Given the description of an element on the screen output the (x, y) to click on. 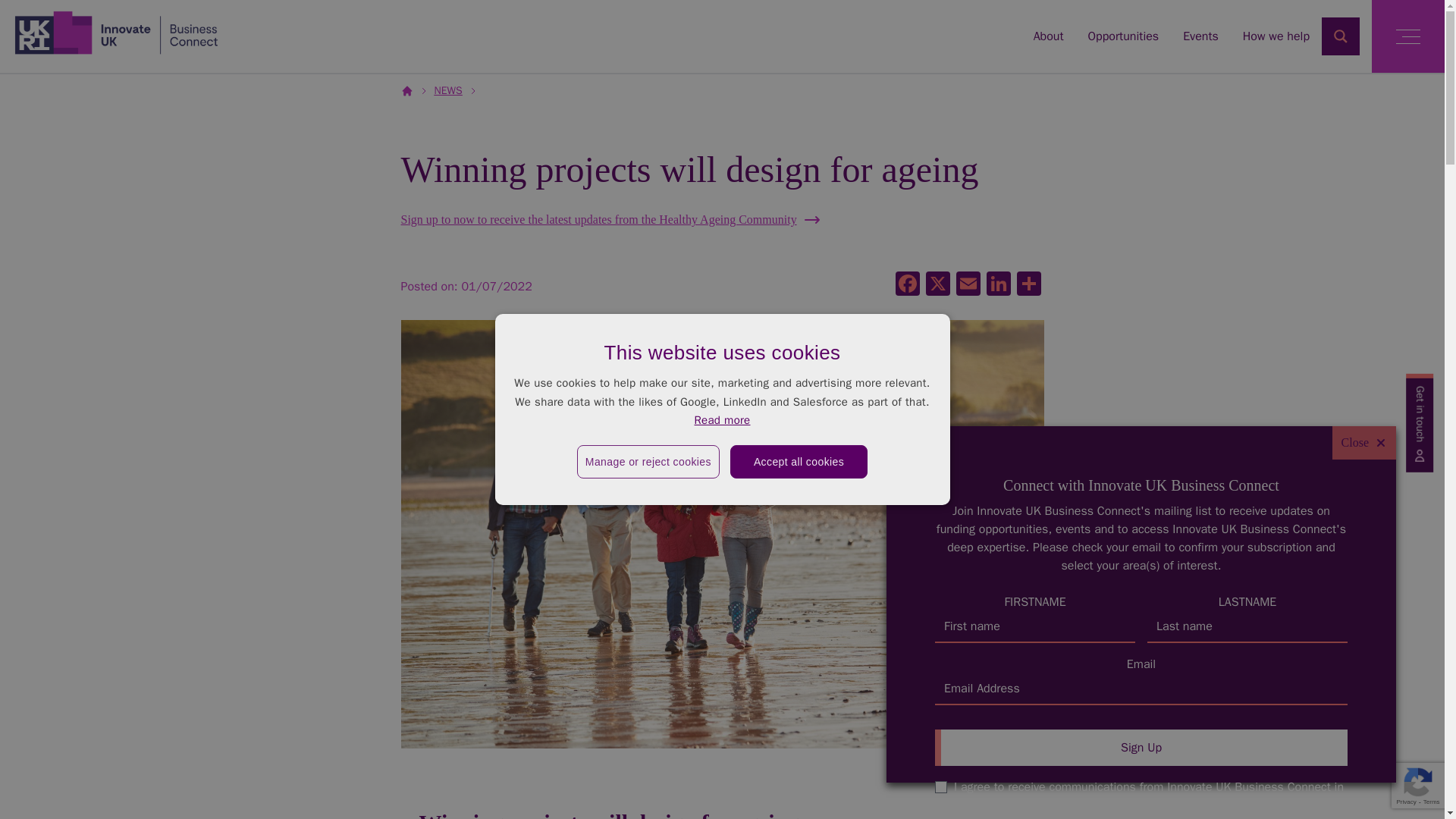
About (1048, 36)
Opportunities (1122, 36)
X (936, 285)
Home (116, 32)
LinkedIn (997, 285)
Email (967, 285)
How we help (1275, 36)
Events (1200, 36)
Facebook (906, 285)
on (940, 787)
Sign Up (1141, 747)
